Given the description of an element on the screen output the (x, y) to click on. 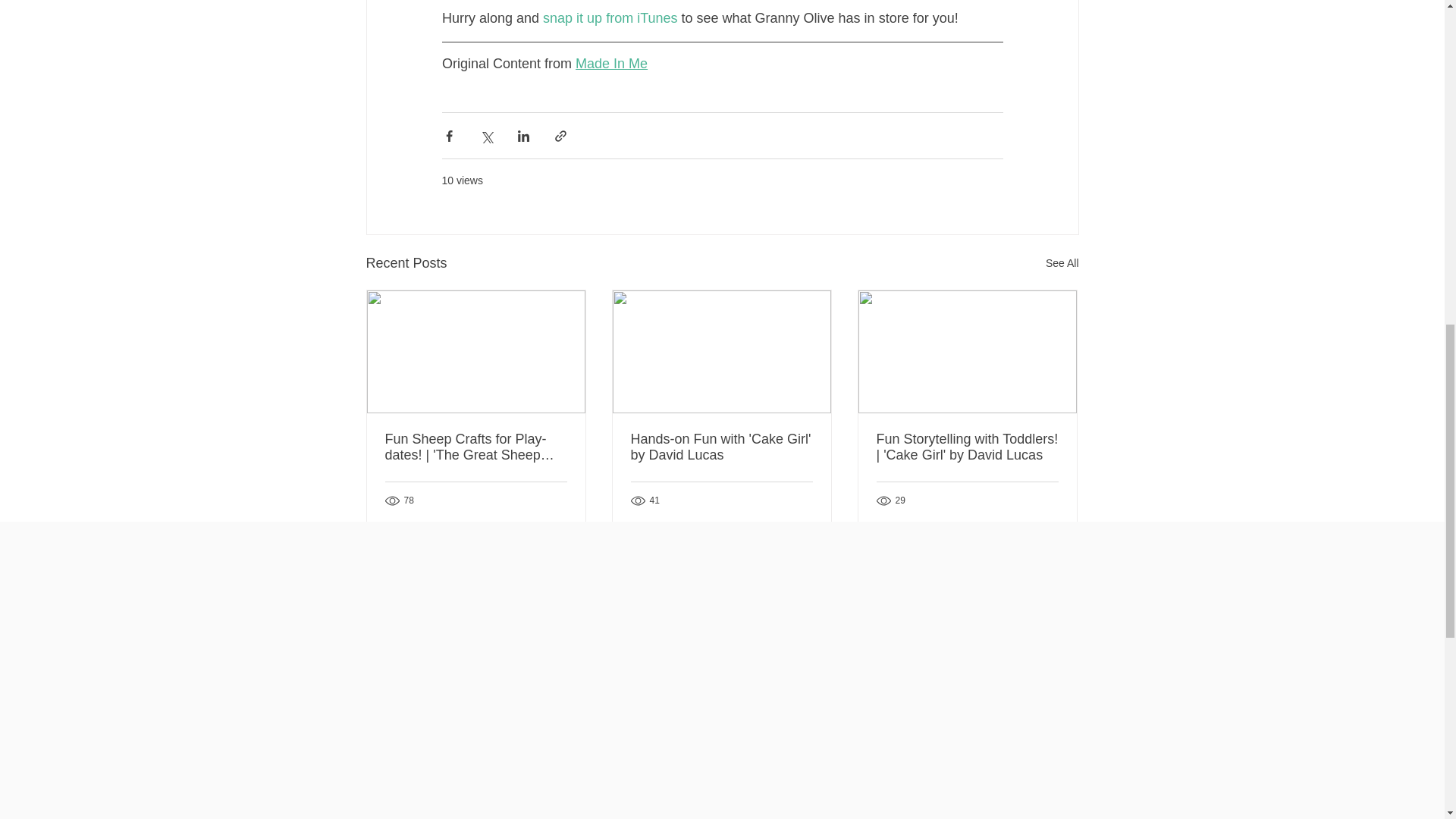
See All (1061, 263)
Hands-on Fun with 'Cake Girl' by David Lucas (721, 447)
snap it up from iTunes (610, 17)
Made In Me (611, 63)
